Given the description of an element on the screen output the (x, y) to click on. 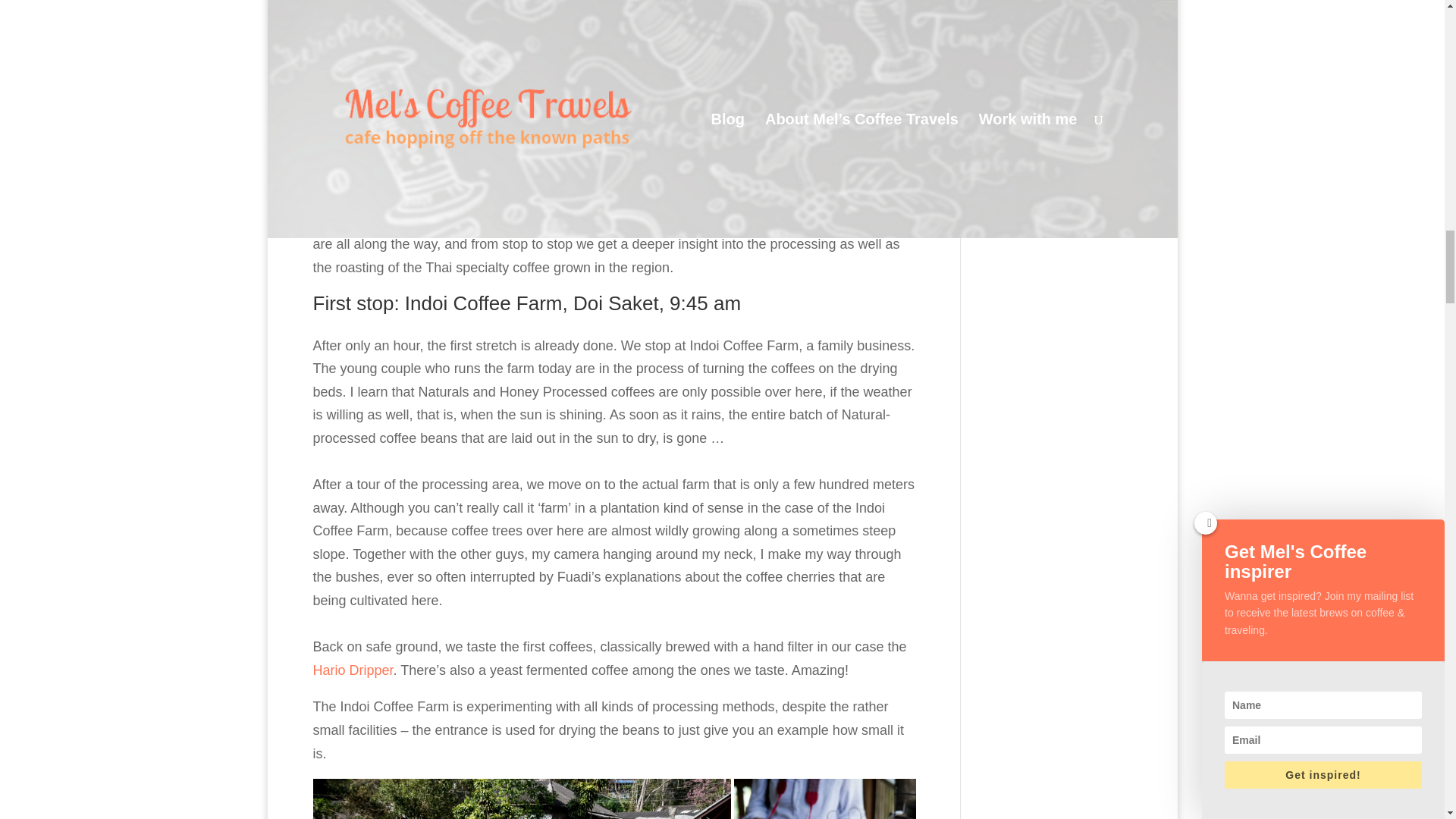
Hario Dripper (353, 670)
